Given the description of an element on the screen output the (x, y) to click on. 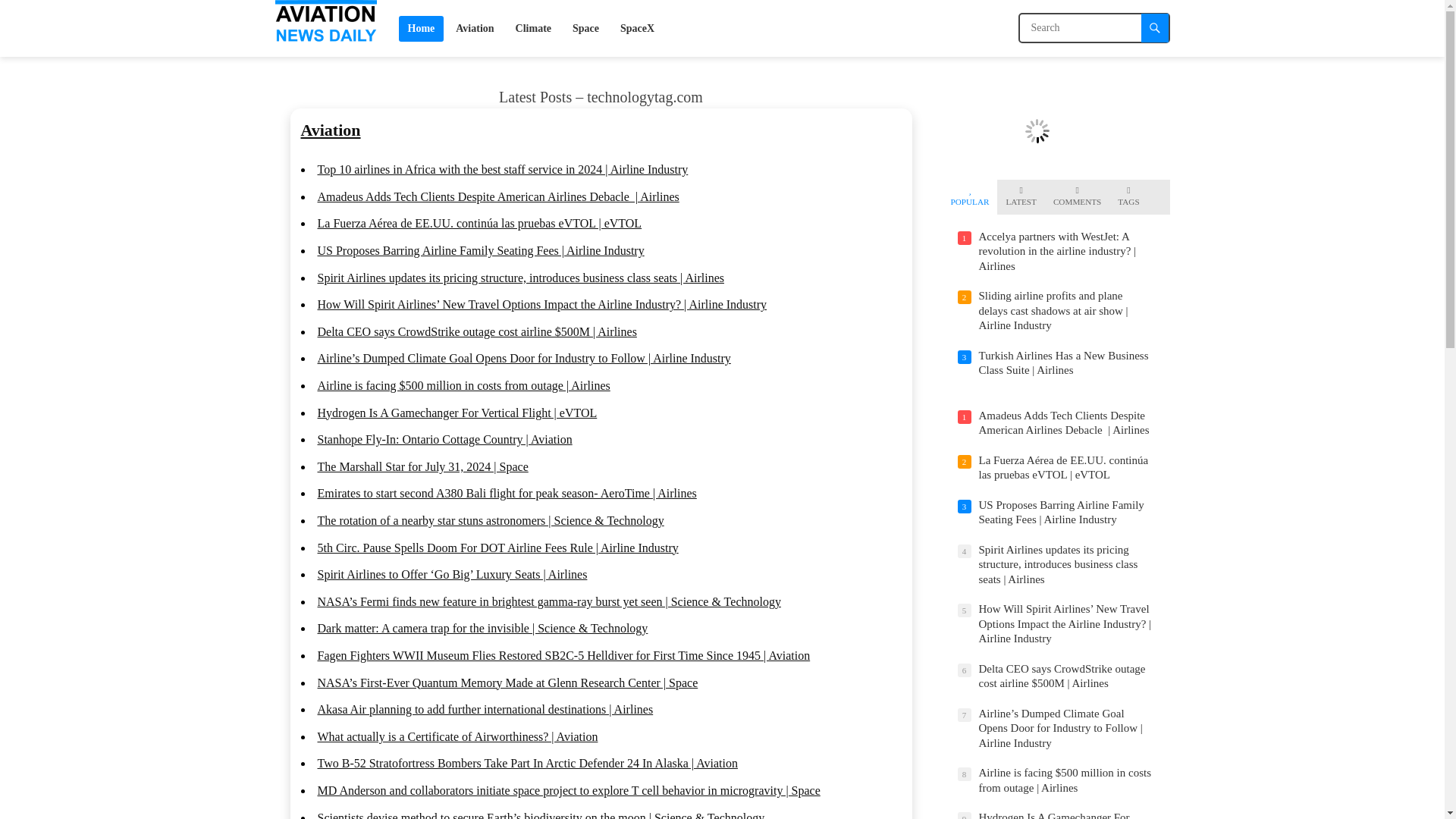
Aviation (329, 129)
Latest (1020, 196)
SpaceX (637, 28)
Comments (1076, 196)
Aviation (474, 28)
Popular (970, 196)
Tags (1128, 196)
Climate (533, 28)
